Given the description of an element on the screen output the (x, y) to click on. 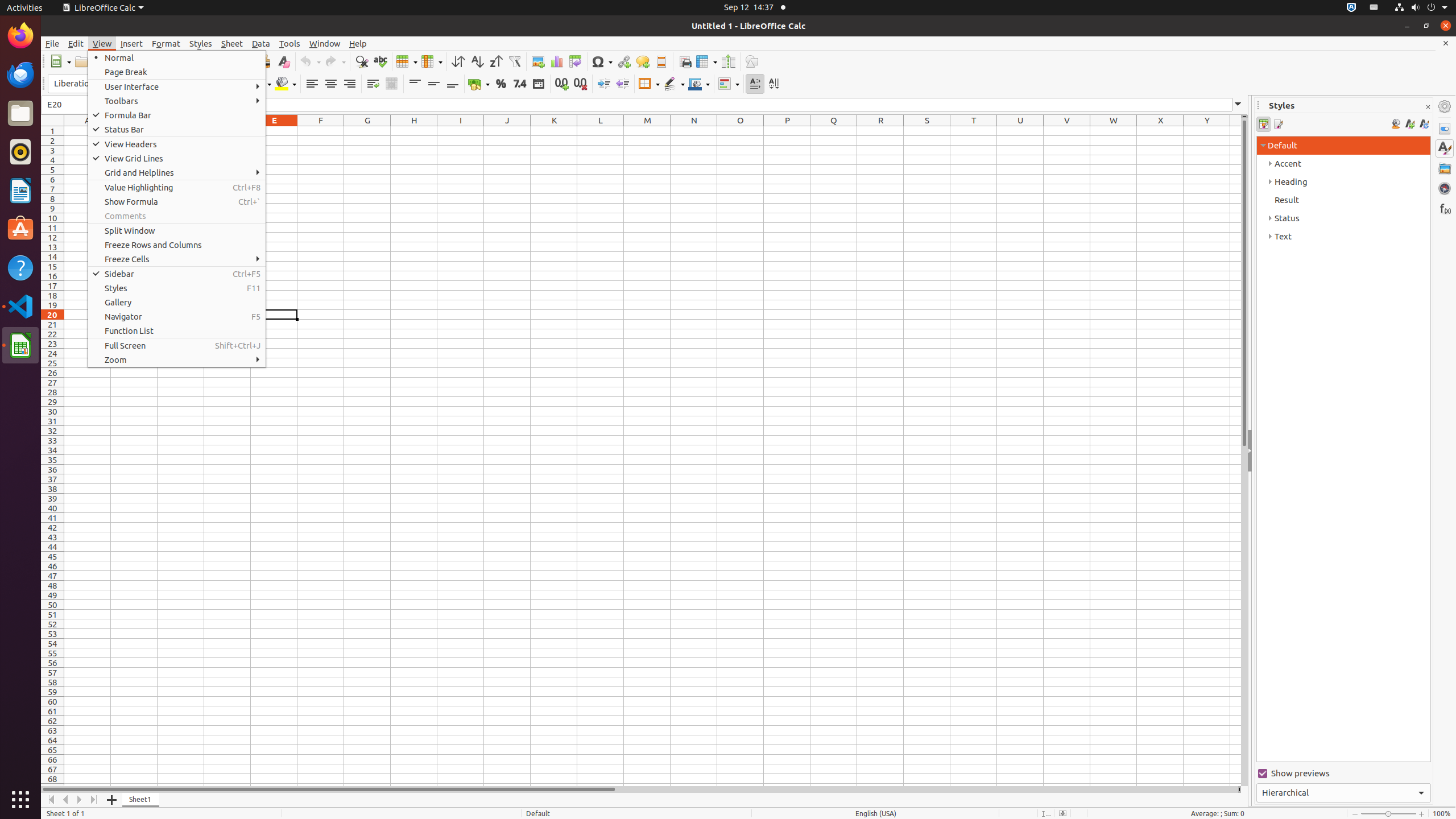
:1.21/StatusNotifierItem Element type: menu (1373, 7)
F1 Element type: table-cell (320, 130)
W1 Element type: table-cell (1113, 130)
I1 Element type: table-cell (460, 130)
Comment Element type: push-button (642, 61)
